Given the description of an element on the screen output the (x, y) to click on. 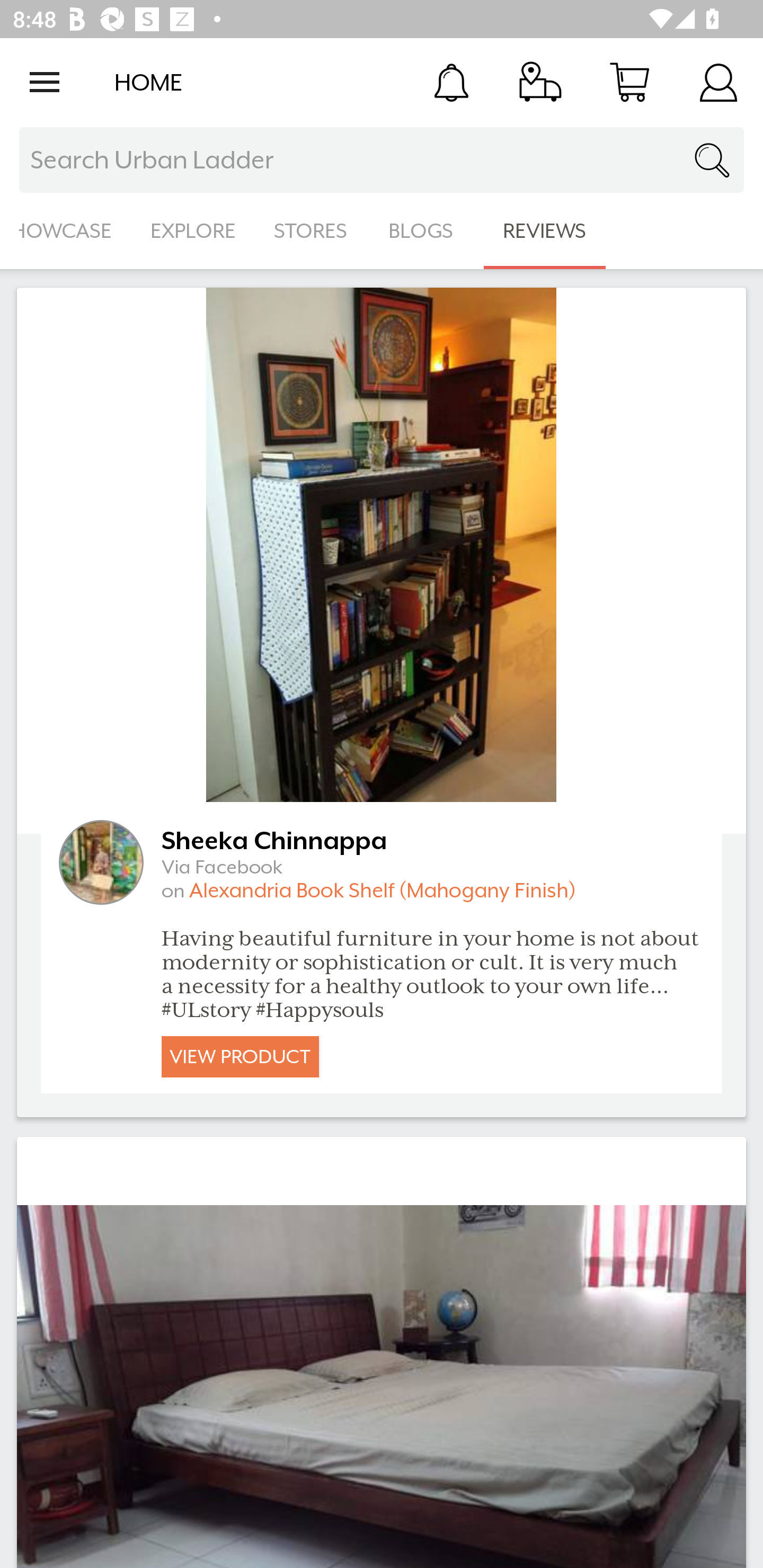
Open navigation drawer (44, 82)
Notification (450, 81)
Track Order (540, 81)
Cart (629, 81)
Account Details (718, 81)
Search Urban Ladder  (381, 159)
SHOWCASE (65, 230)
EXPLORE (192, 230)
STORES (311, 230)
BLOGS (426, 230)
REVIEWS (544, 230)
VIEW PRODUCT (239, 1056)
